Given the description of an element on the screen output the (x, y) to click on. 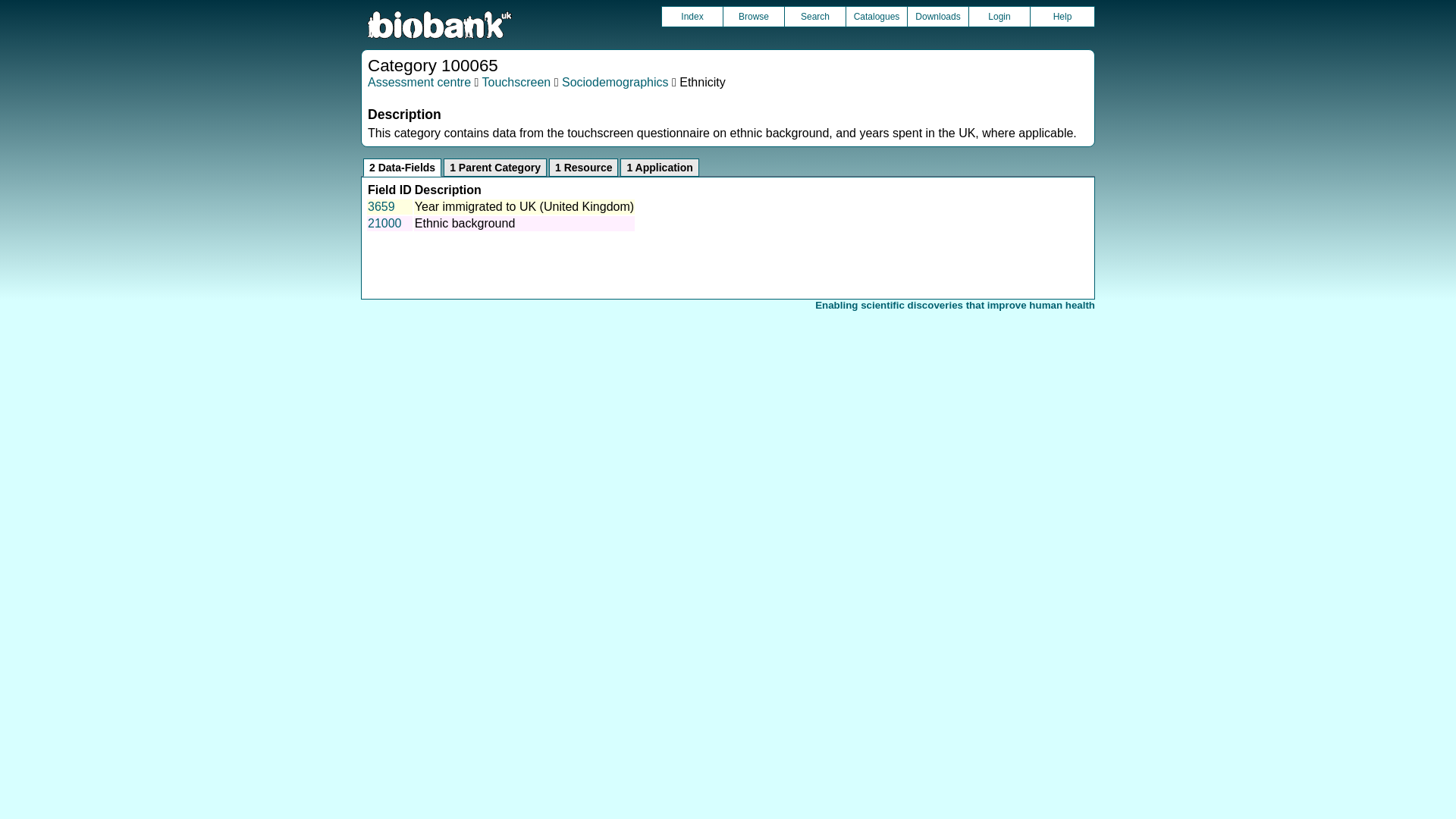
Login (999, 16)
Downloads (937, 16)
1 Application (659, 167)
Touchscreen (516, 82)
Ethnic background (464, 223)
Help (1062, 16)
1 Parent Category (495, 167)
Assessment centre (419, 82)
Sociodemographics (615, 82)
Search (814, 16)
3659 (381, 205)
2 Data-Fields (401, 167)
Index (692, 16)
1 Resource (582, 167)
Browse (753, 16)
